Given the description of an element on the screen output the (x, y) to click on. 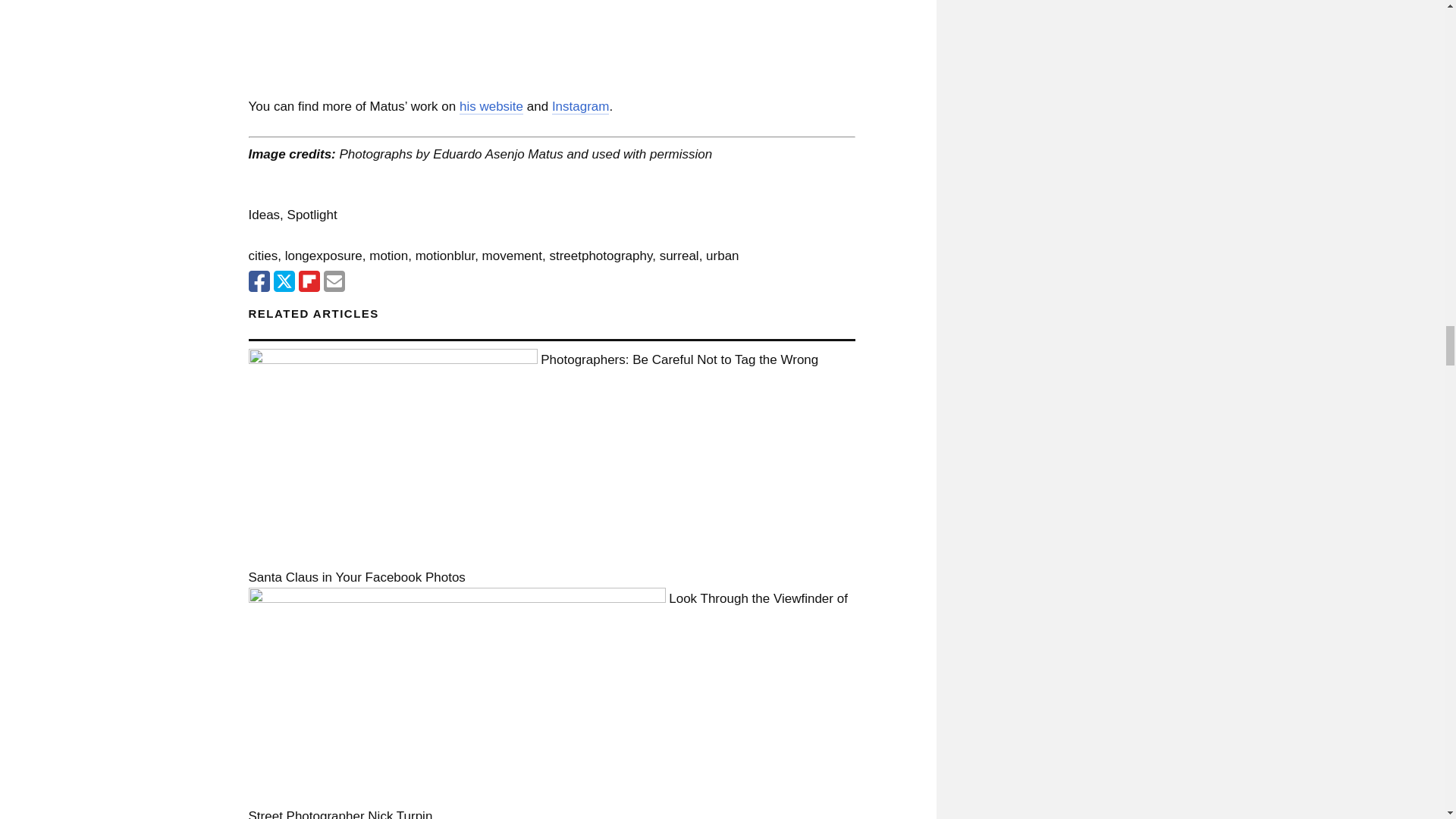
Ideas (264, 214)
his website (491, 106)
Instagram (580, 106)
Share on Flipboard (309, 281)
longexposure (323, 255)
motion (388, 255)
Share on facebook (258, 281)
urban (722, 255)
movement (511, 255)
surreal (678, 255)
Email this article (333, 281)
cities (263, 255)
streetphotography (600, 255)
Share on X (283, 281)
motionblur (444, 255)
